Given the description of an element on the screen output the (x, y) to click on. 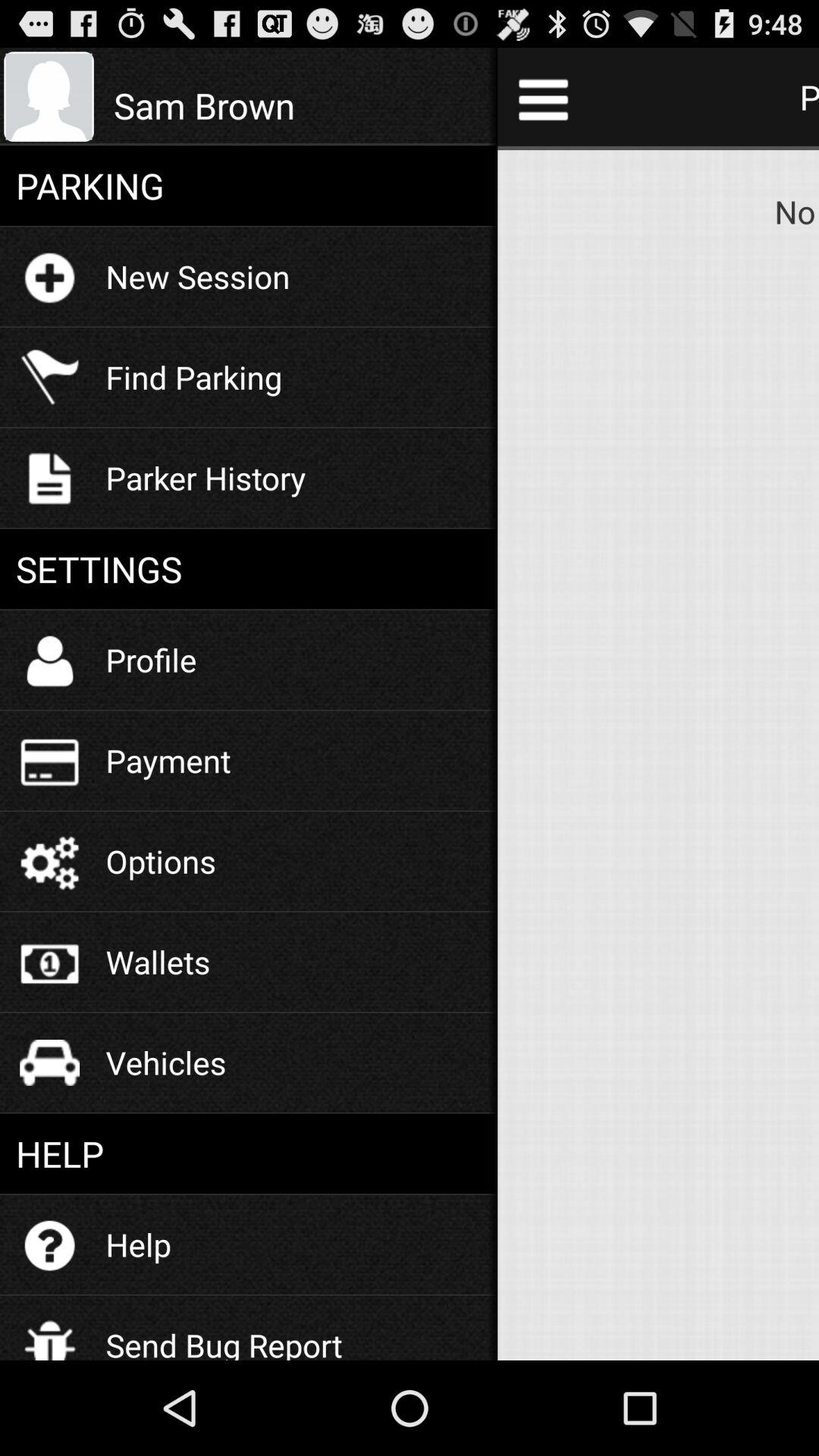
open the icon below the parking item (197, 275)
